Given the description of an element on the screen output the (x, y) to click on. 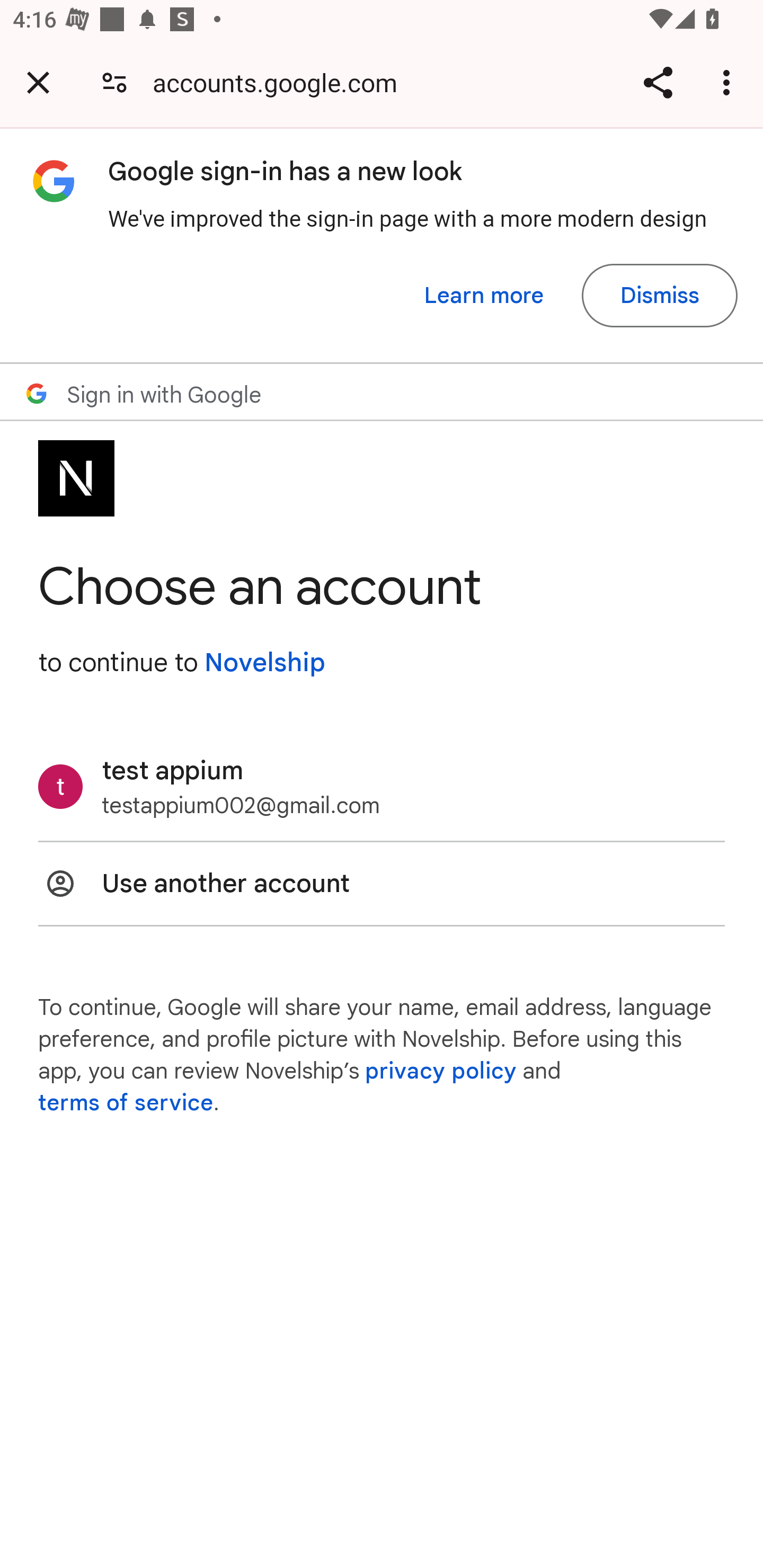
Close tab (38, 82)
Share (657, 82)
Customize and control Google Chrome (729, 82)
Connection is secure (114, 81)
accounts.google.com (281, 81)
Learn more (483, 295)
Dismiss (659, 295)
Novelship (264, 662)
Use another account (381, 883)
privacy policy (440, 1070)
terms of service (126, 1102)
